Given the description of an element on the screen output the (x, y) to click on. 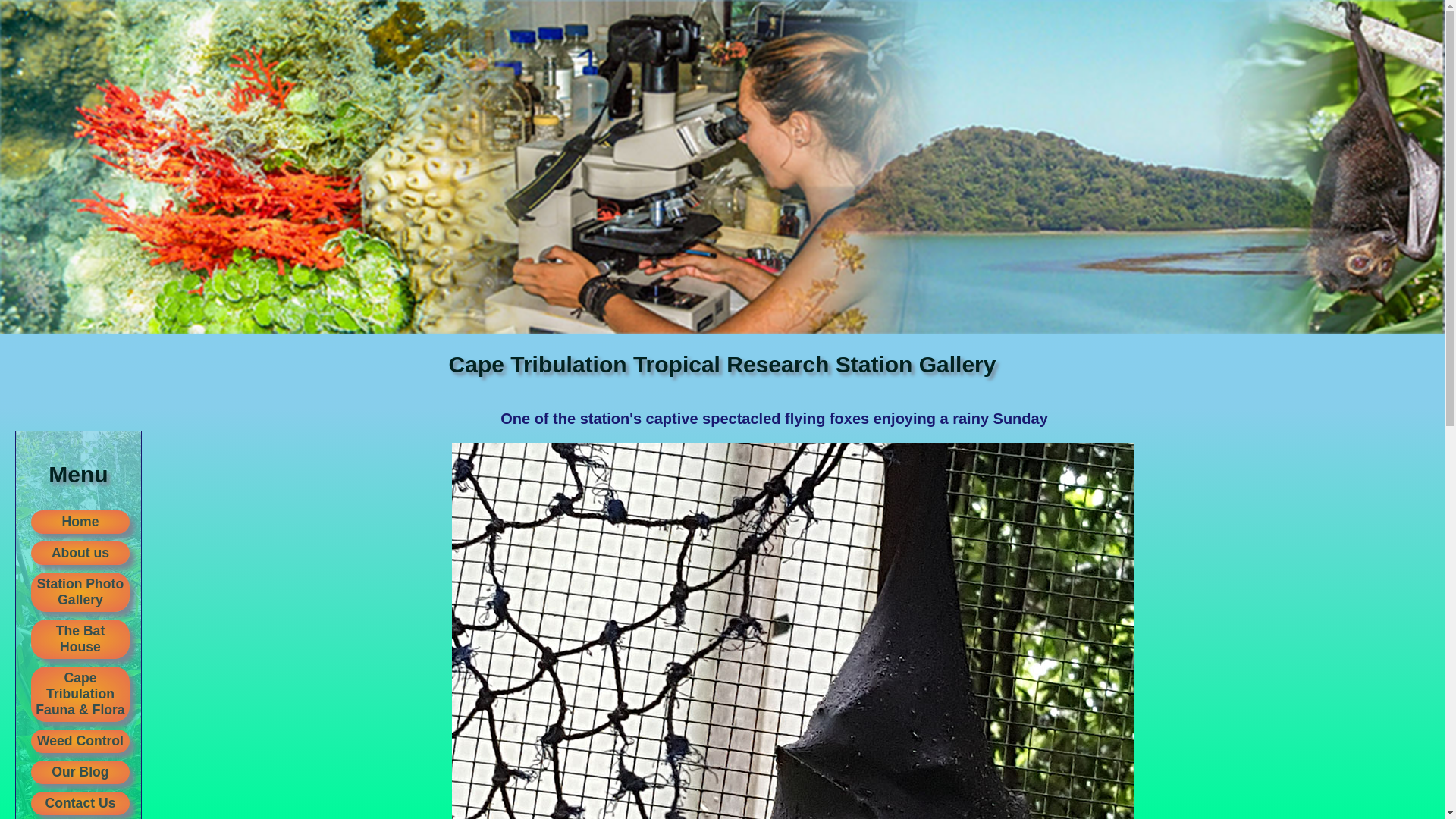
About us Element type: text (80, 552)
Contact Us Element type: text (80, 803)
The Bat House Element type: text (80, 638)
Station Photo Gallery Element type: text (80, 591)
Our Blog Element type: text (80, 772)
Cape Tribulation Fauna & Flora Element type: text (80, 693)
Home Element type: text (80, 521)
Weed Control Element type: text (80, 741)
